Given the description of an element on the screen output the (x, y) to click on. 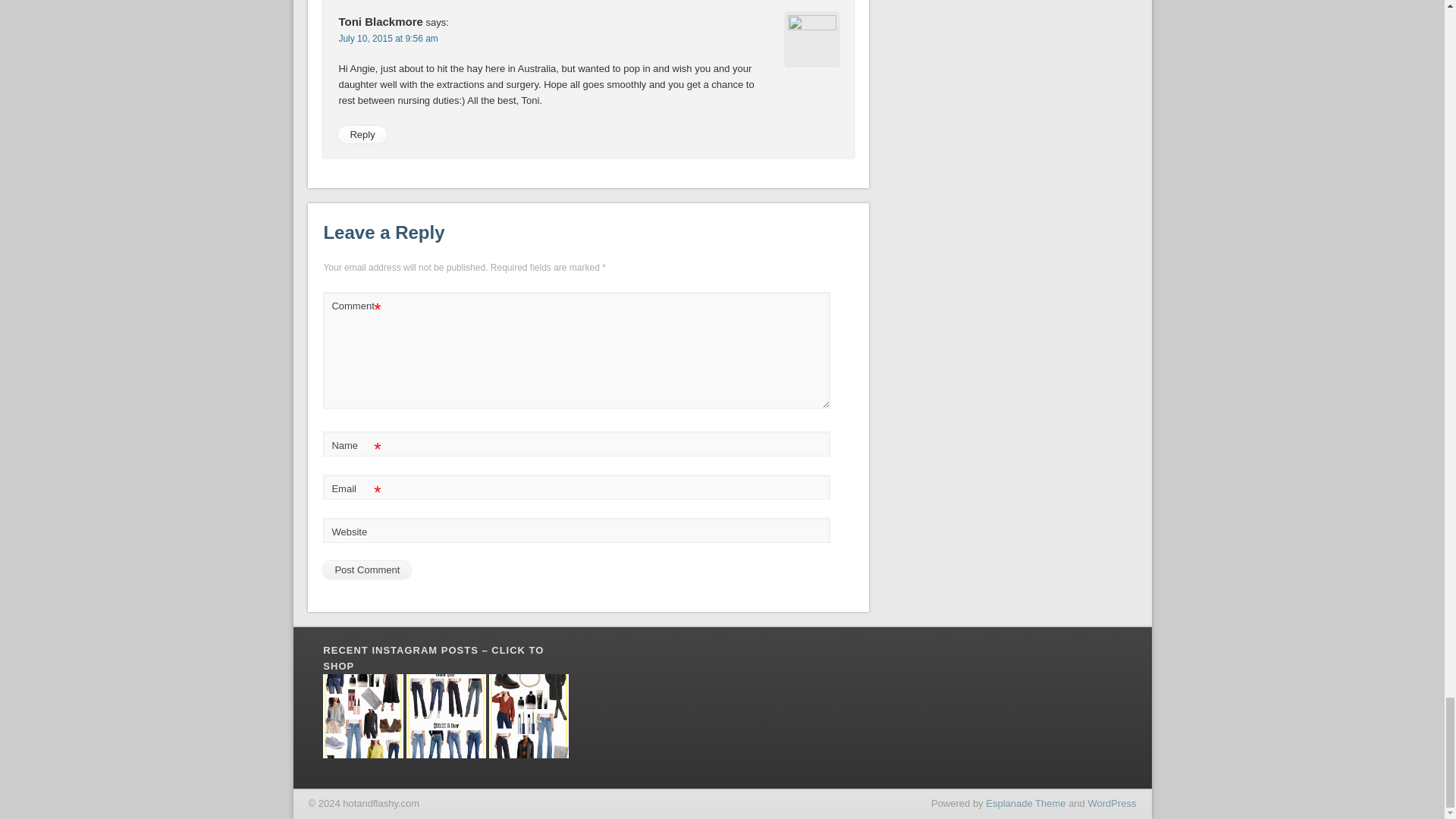
Post Comment (366, 569)
